Given the description of an element on the screen output the (x, y) to click on. 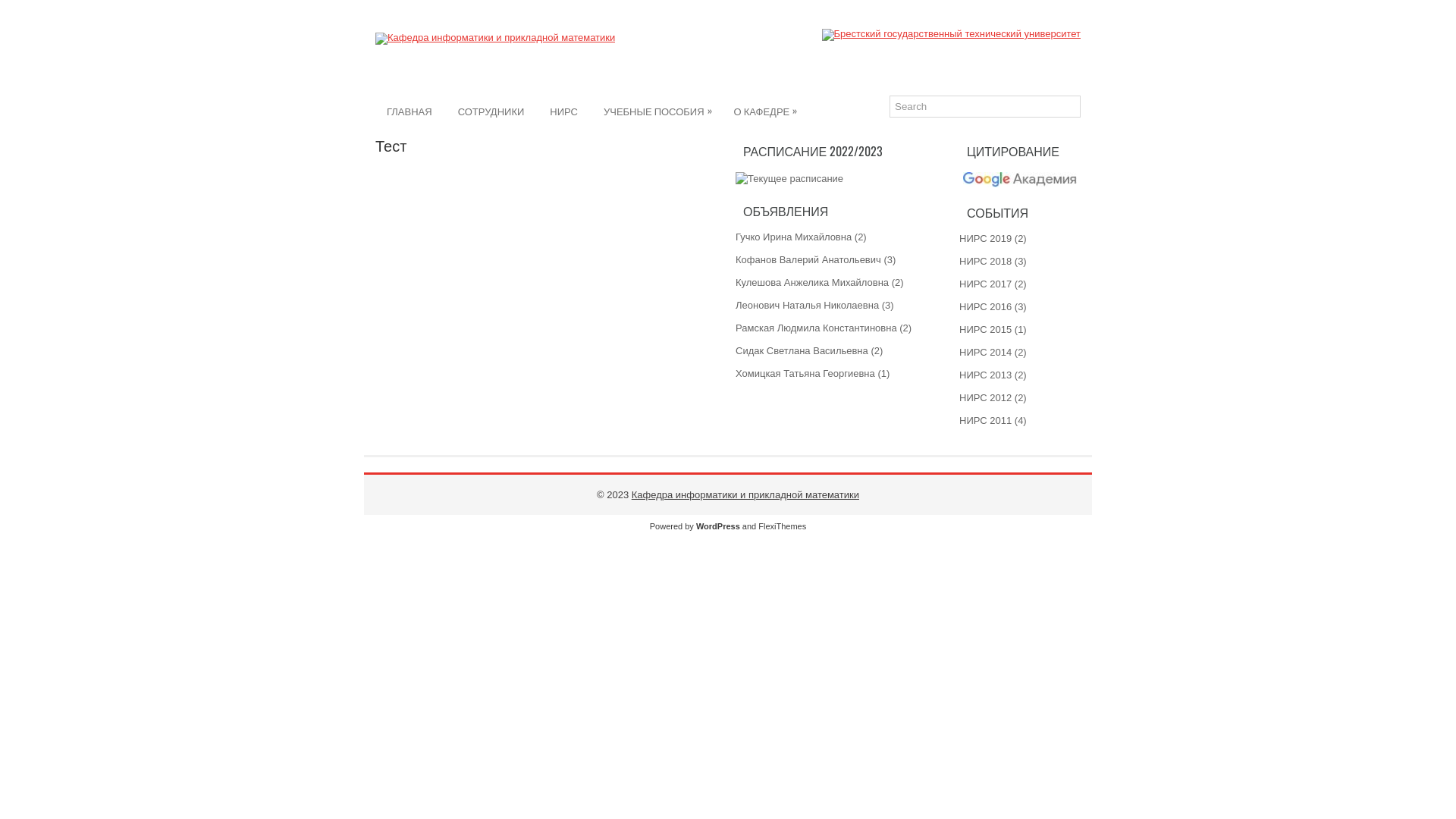
FlexiThemes Element type: text (782, 525)
WordPress Element type: text (718, 525)
Type and hit enter Element type: hover (984, 106)
